Given the description of an element on the screen output the (x, y) to click on. 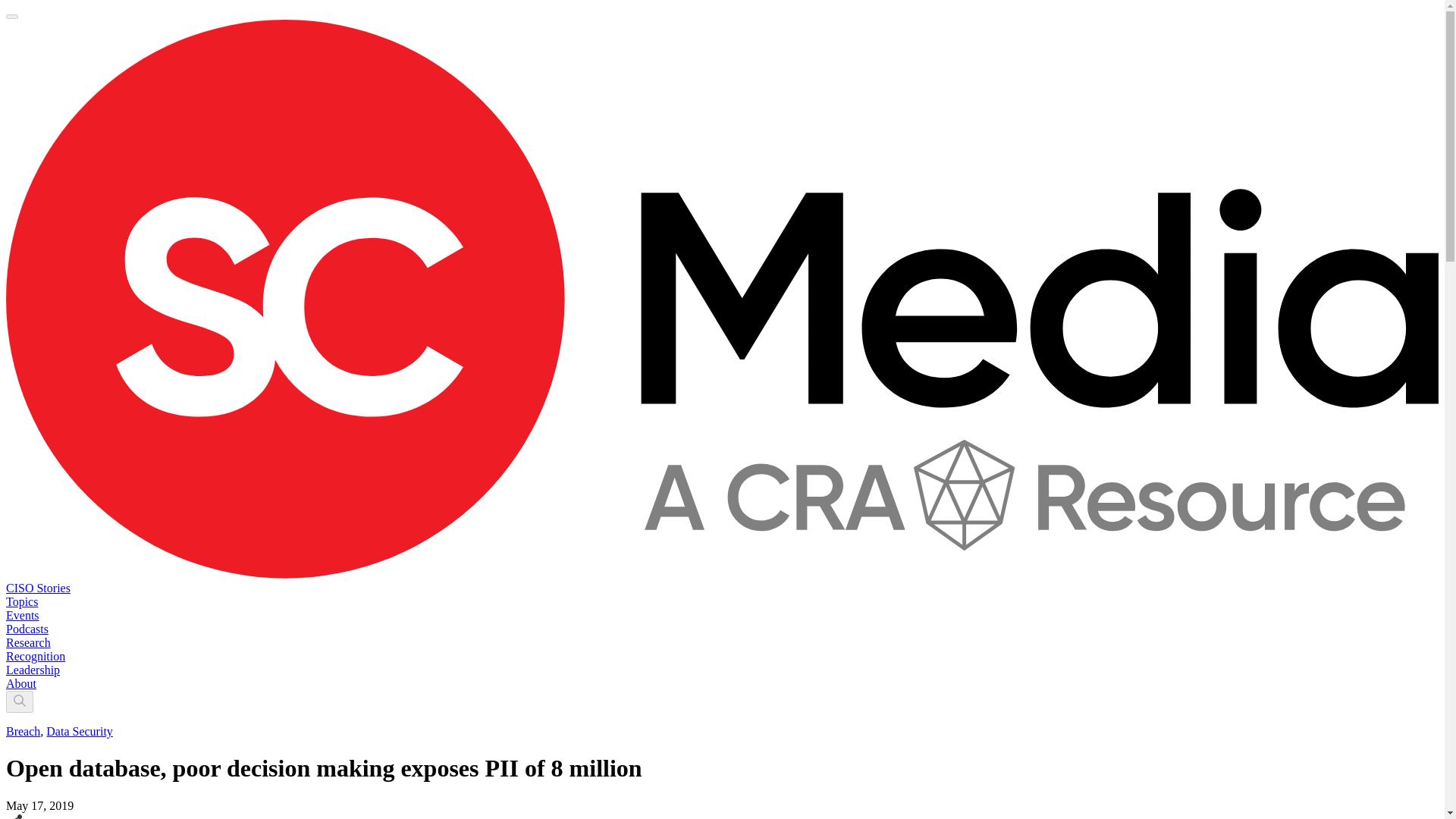
Breach (22, 730)
Topics (21, 601)
Research (27, 642)
Leadership (32, 669)
Events (22, 615)
Data Security (79, 730)
Recognition (35, 656)
Podcasts (26, 628)
About (20, 683)
CISO Stories (37, 587)
